Given the description of an element on the screen output the (x, y) to click on. 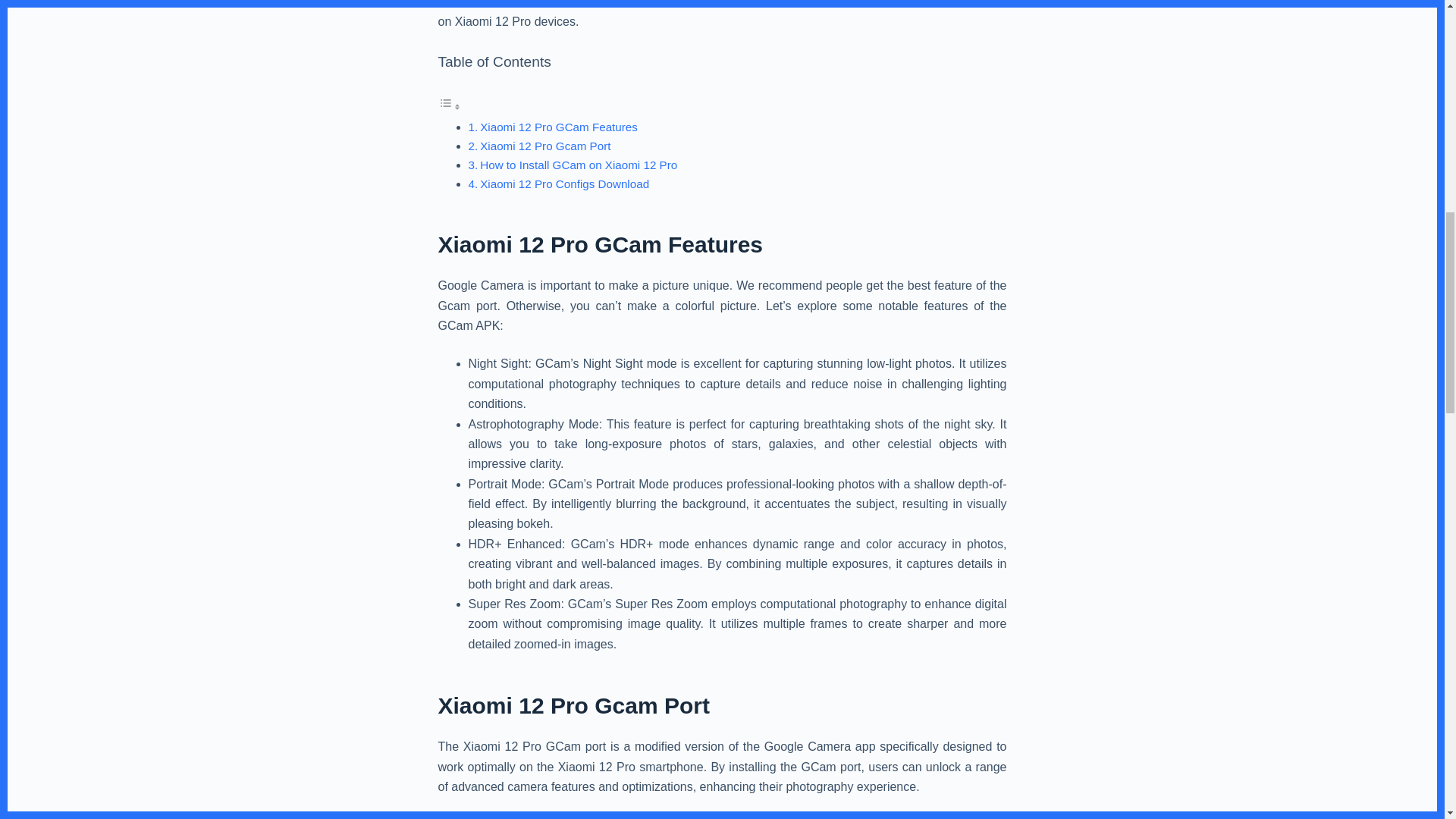
Xiaomi 12 Pro Configs Download (564, 183)
Xiaomi 12 Pro Gcam Port (545, 145)
Xiaomi 12 Pro GCam Features (558, 126)
Xiaomi 12 Pro GCam Features (558, 126)
Xiaomi 12 Pro Configs Download (564, 183)
How to Install GCam on Xiaomi 12 Pro (578, 164)
Xiaomi 12 Pro Gcam Port (545, 145)
How to Install GCam on Xiaomi 12 Pro (578, 164)
